Given the description of an element on the screen output the (x, y) to click on. 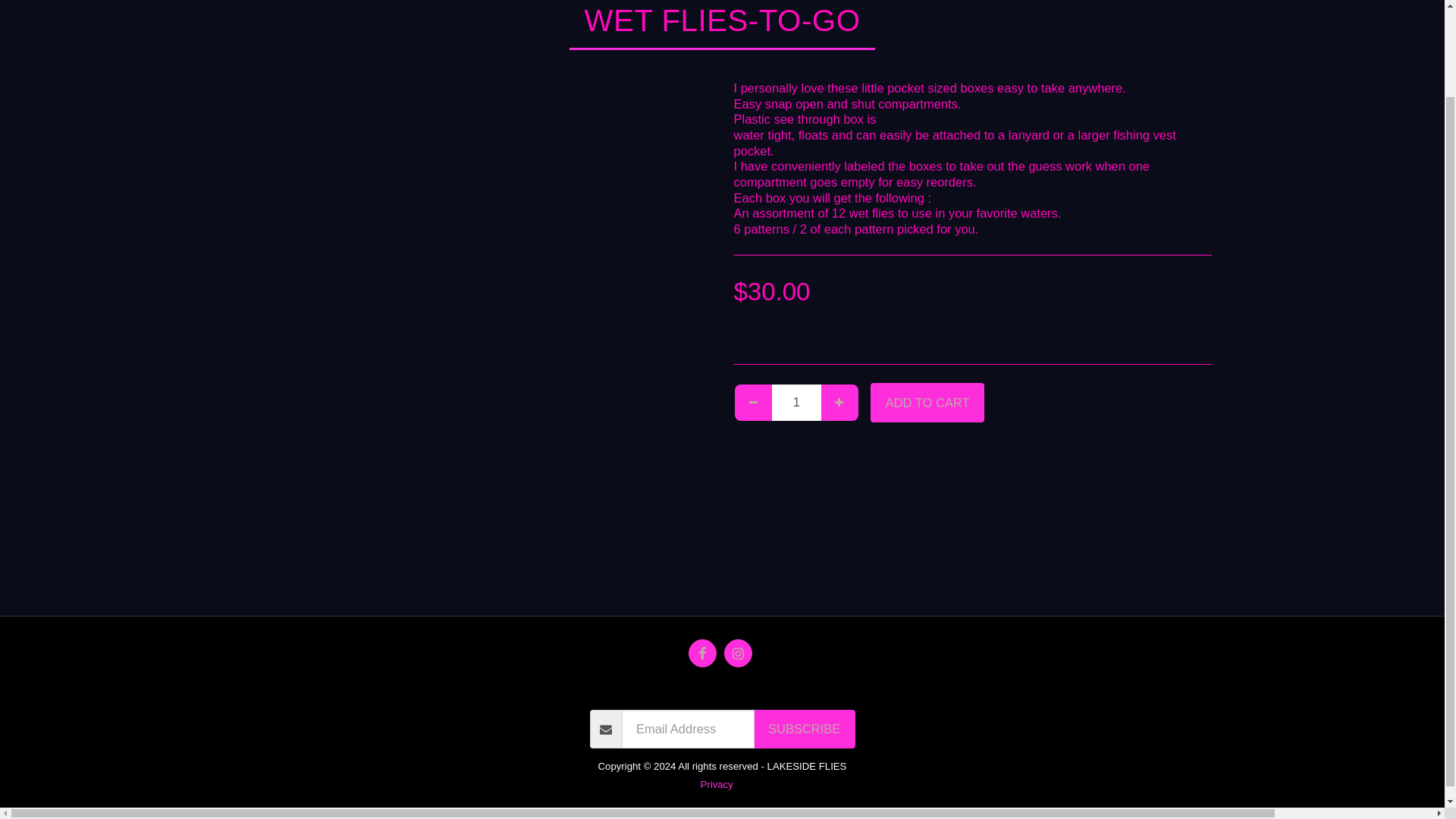
ADD TO CART (927, 402)
1 (796, 402)
